Given the description of an element on the screen output the (x, y) to click on. 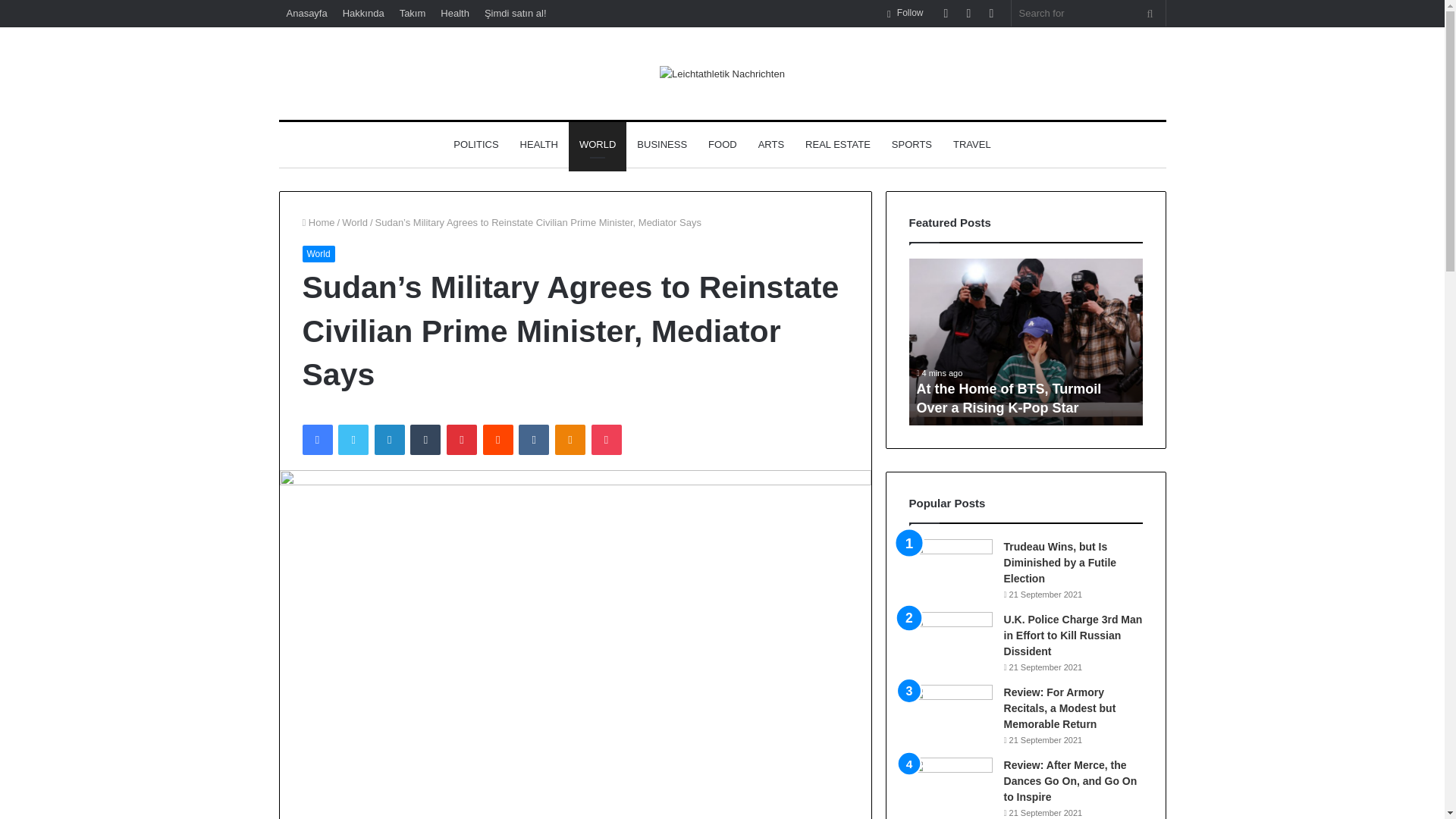
TRAVEL (971, 144)
Facebook (316, 440)
Pinterest (461, 440)
ARTS (771, 144)
World (355, 222)
Facebook (316, 440)
Reddit (498, 440)
VKontakte (533, 440)
BUSINESS (661, 144)
Anasayfa (306, 13)
SPORTS (911, 144)
Odnoklassniki (569, 440)
Pocket (606, 440)
WORLD (597, 144)
Tumblr (425, 440)
